Given the description of an element on the screen output the (x, y) to click on. 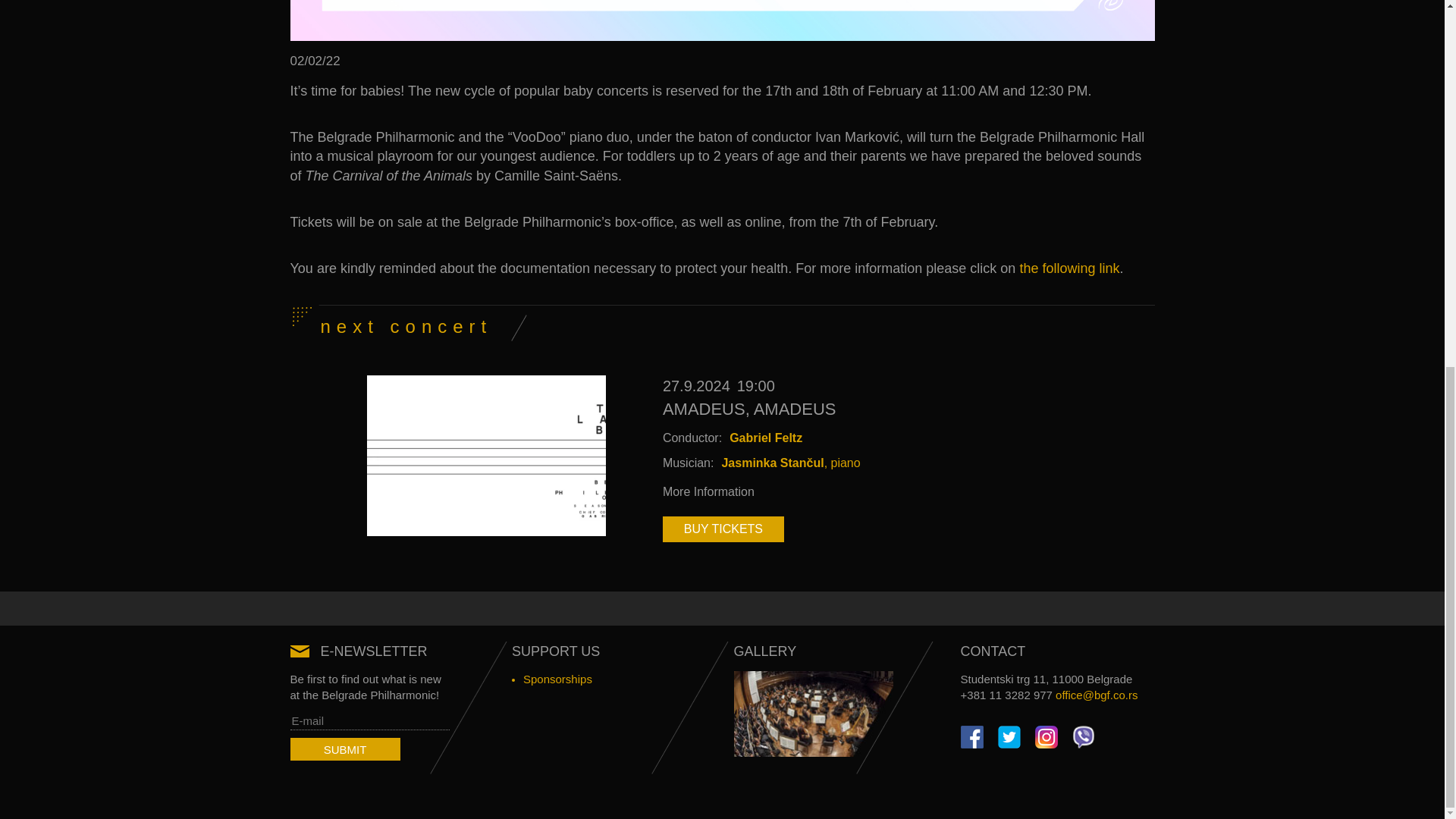
Submit (344, 749)
